Given the description of an element on the screen output the (x, y) to click on. 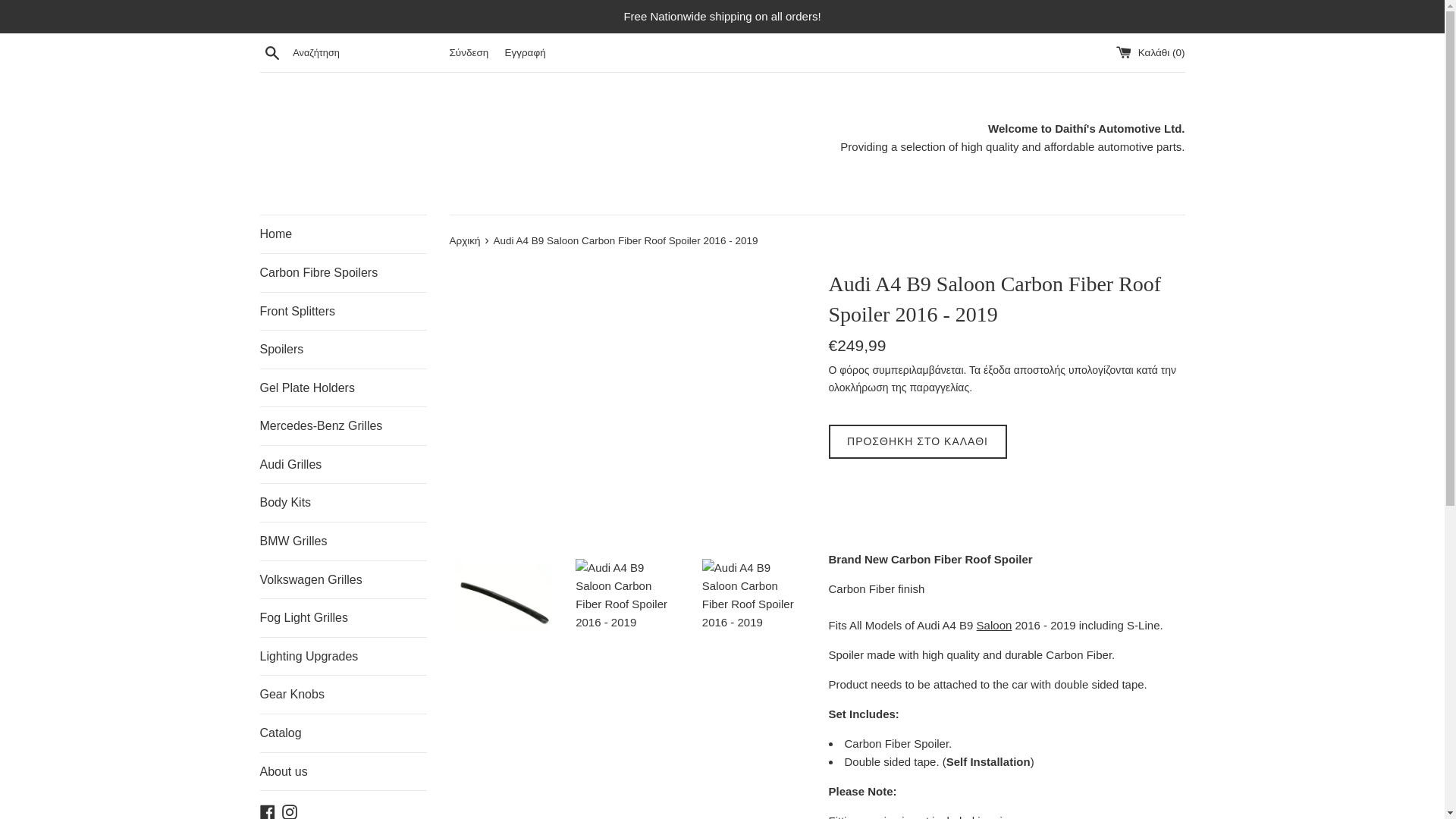
BMW Grilles (342, 541)
Audi Grilles (342, 464)
Facebook (267, 810)
Instagram (289, 810)
Mercedes-Benz Grilles (342, 426)
Gel Plate Holders (342, 388)
Gear Knobs (342, 694)
Carbon Fibre Spoilers (342, 272)
Lighting Upgrades (342, 656)
Body Kits (342, 502)
